Given the description of an element on the screen output the (x, y) to click on. 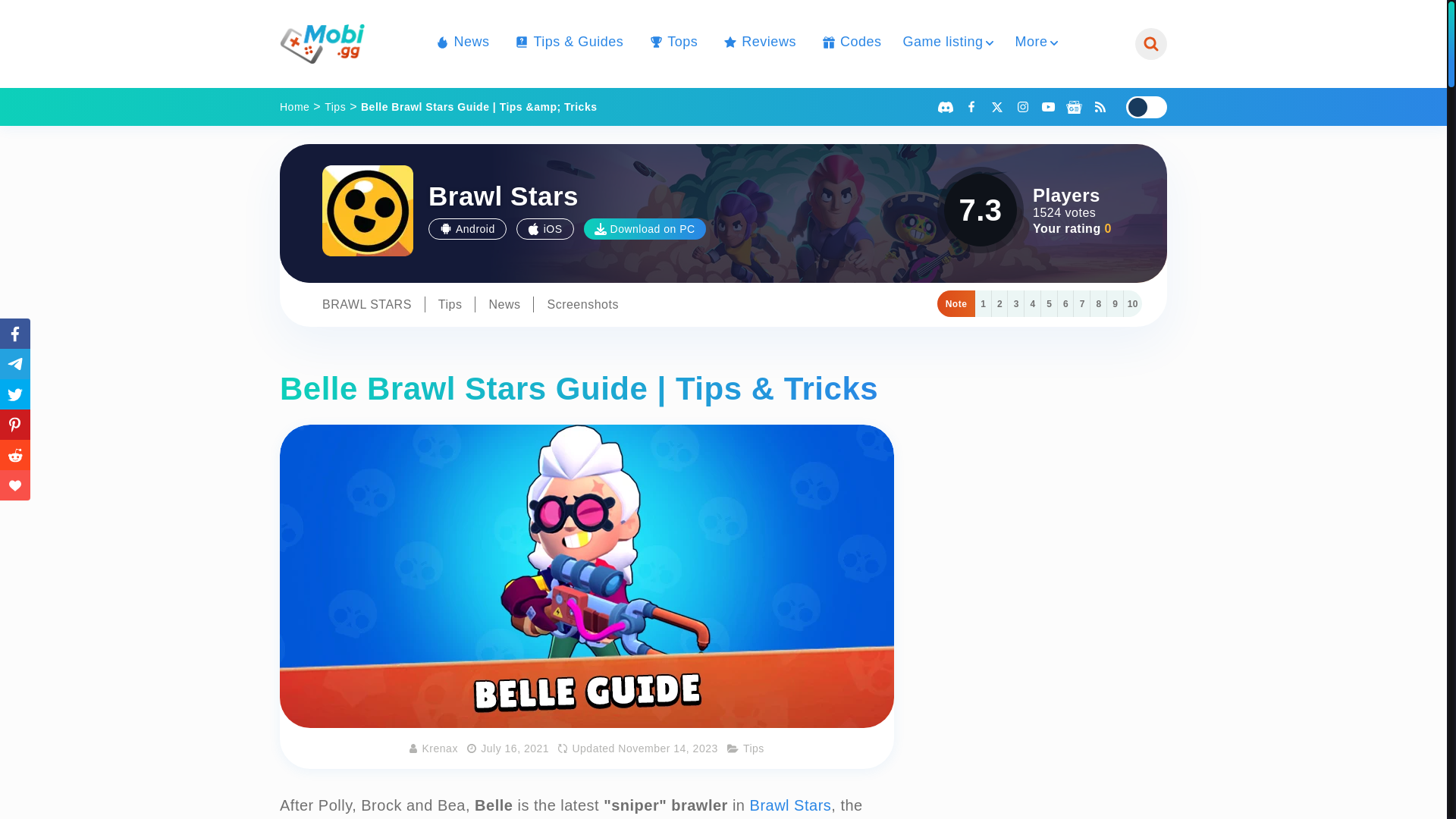
Mobi.gg (322, 43)
Reviews (757, 42)
News (459, 42)
Mobi.gg Team (440, 748)
Home (293, 106)
Tips (335, 106)
Codes (849, 42)
Tops (671, 42)
